Given the description of an element on the screen output the (x, y) to click on. 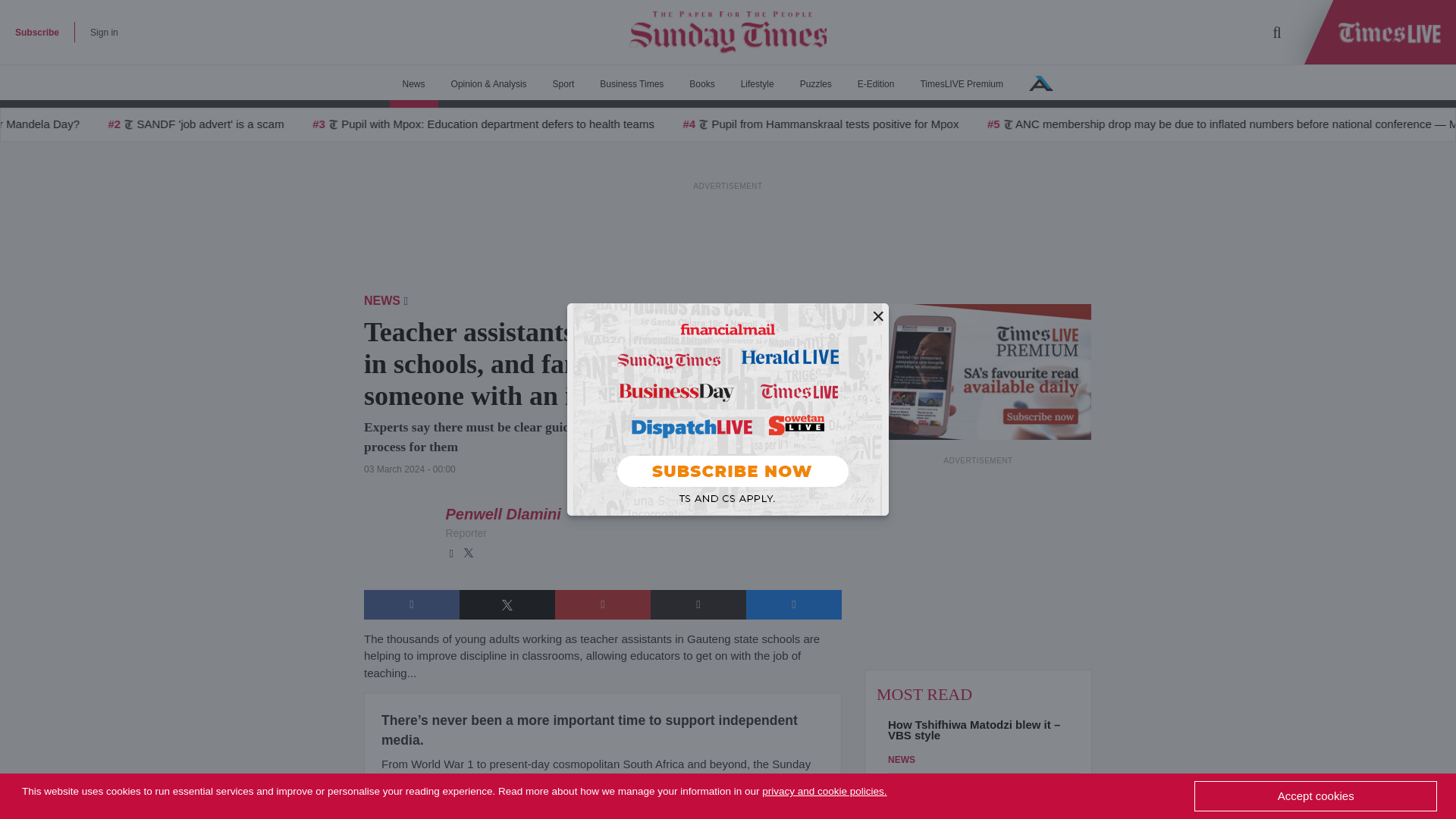
Sign in (103, 32)
Subscribe (36, 32)
Our Network (1040, 83)
Books (701, 84)
Sport (564, 84)
E-Edition (875, 84)
3rd party ad content (727, 227)
Lifestyle (757, 84)
Business Times (631, 84)
Puzzles (815, 84)
3rd party ad content (978, 563)
News (414, 84)
